Given the description of an element on the screen output the (x, y) to click on. 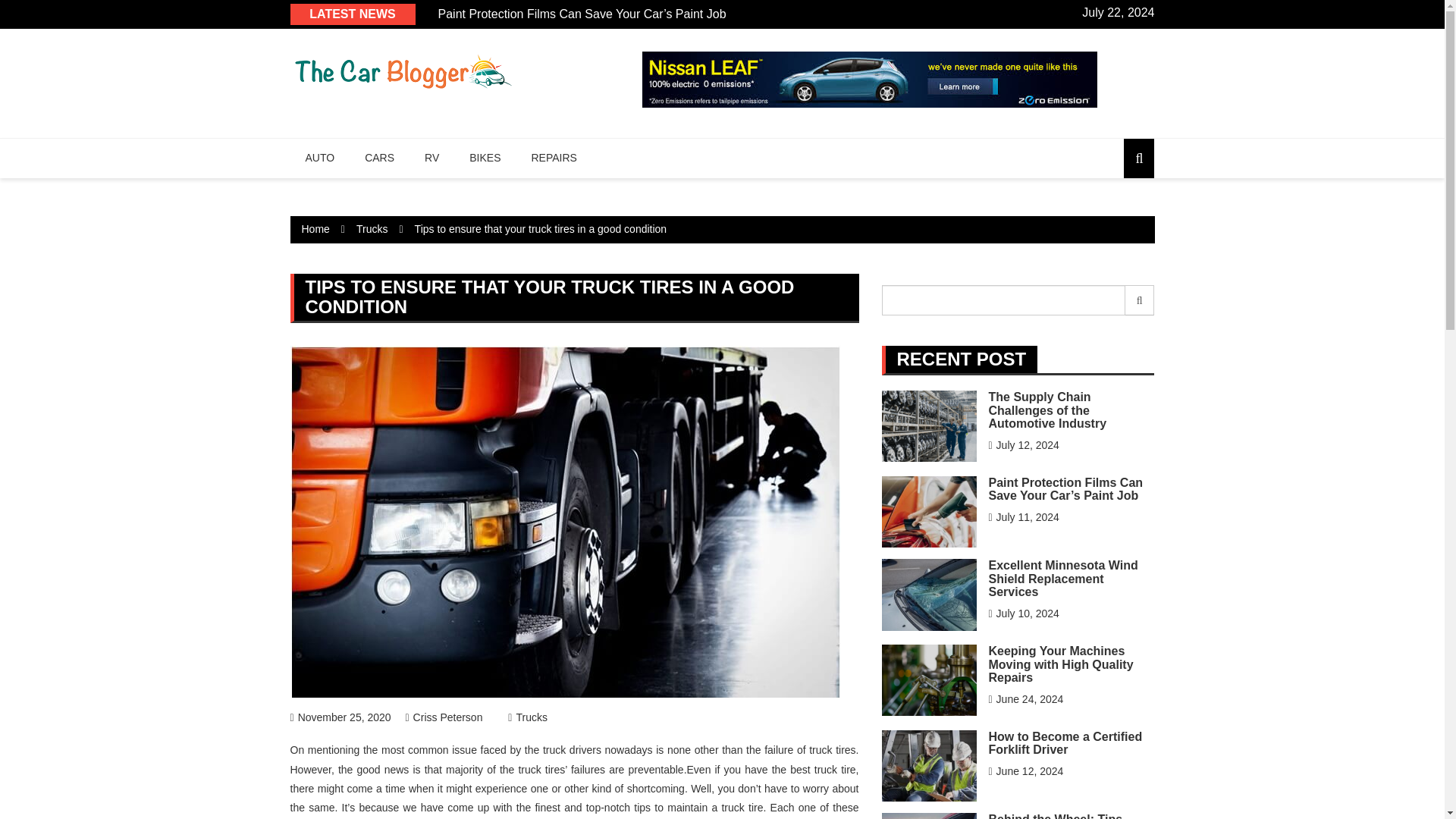
Search (1139, 300)
July 11, 2024 (1023, 517)
BIKES (484, 158)
Tips to ensure that your truck tires in a good condition (540, 228)
CARS (379, 158)
Trucks (527, 717)
RV (431, 158)
July 12, 2024 (1023, 444)
REPAIRS (553, 158)
The Supply Chain Challenges of the Automotive Industry (1047, 409)
Trucks (371, 228)
Criss Peterson (442, 717)
AUTO (319, 158)
Home (315, 228)
November 25, 2020 (339, 717)
